Given the description of an element on the screen output the (x, y) to click on. 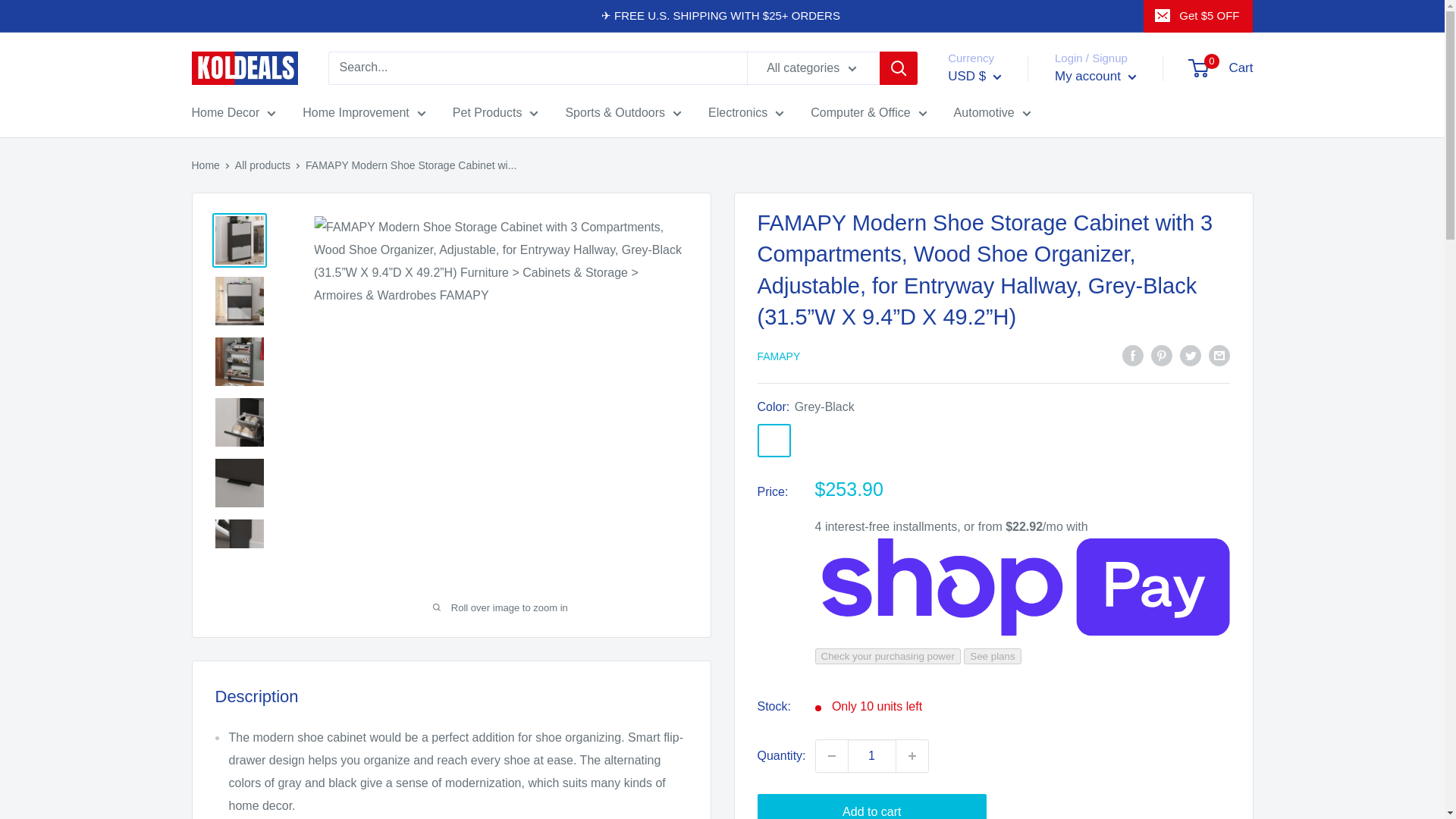
Grey-Black (773, 440)
Increase quantity by 1 (912, 756)
1 (871, 756)
Decrease quantity by 1 (831, 756)
